Given the description of an element on the screen output the (x, y) to click on. 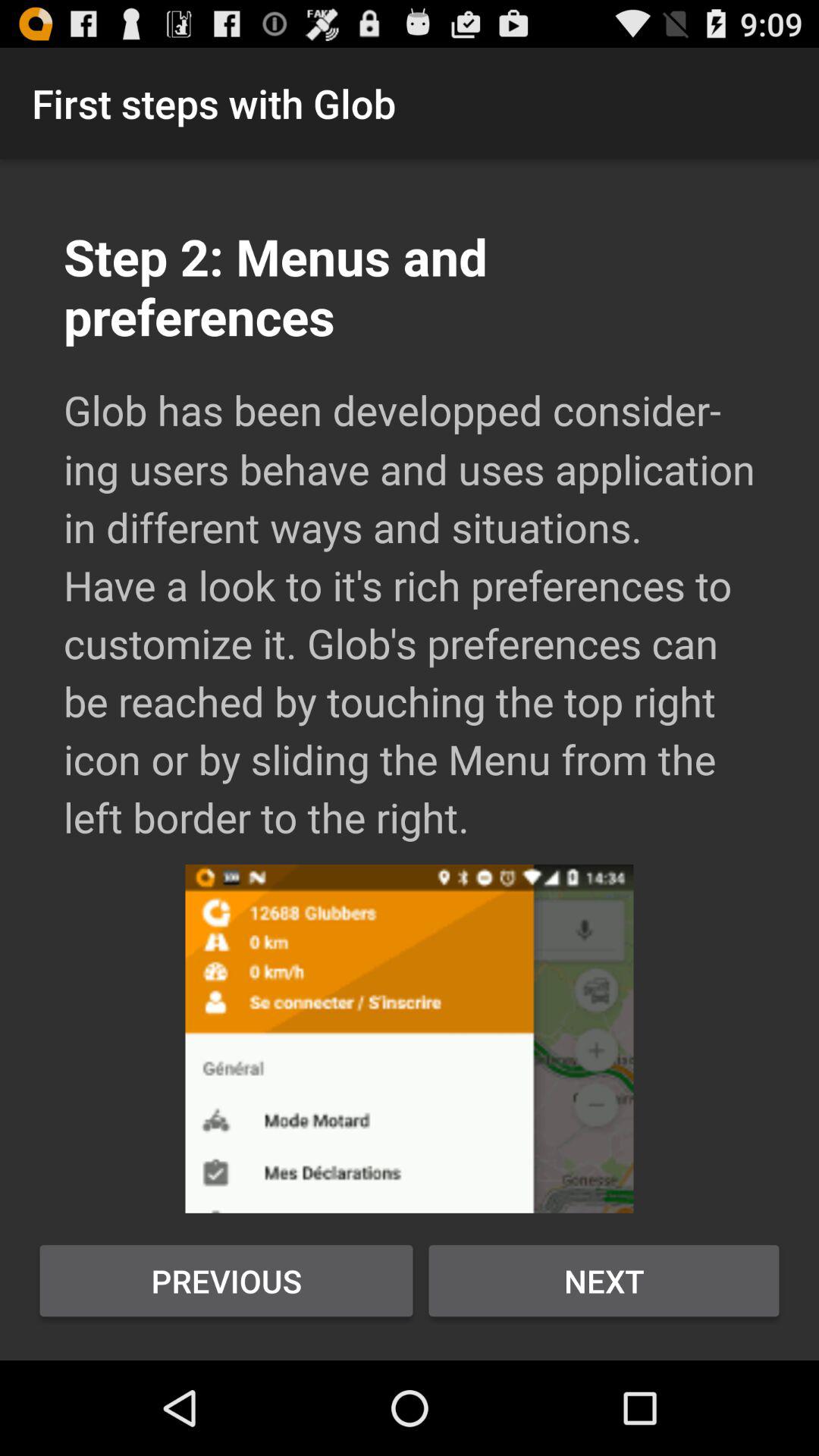
press icon to the right of previous (603, 1280)
